Given the description of an element on the screen output the (x, y) to click on. 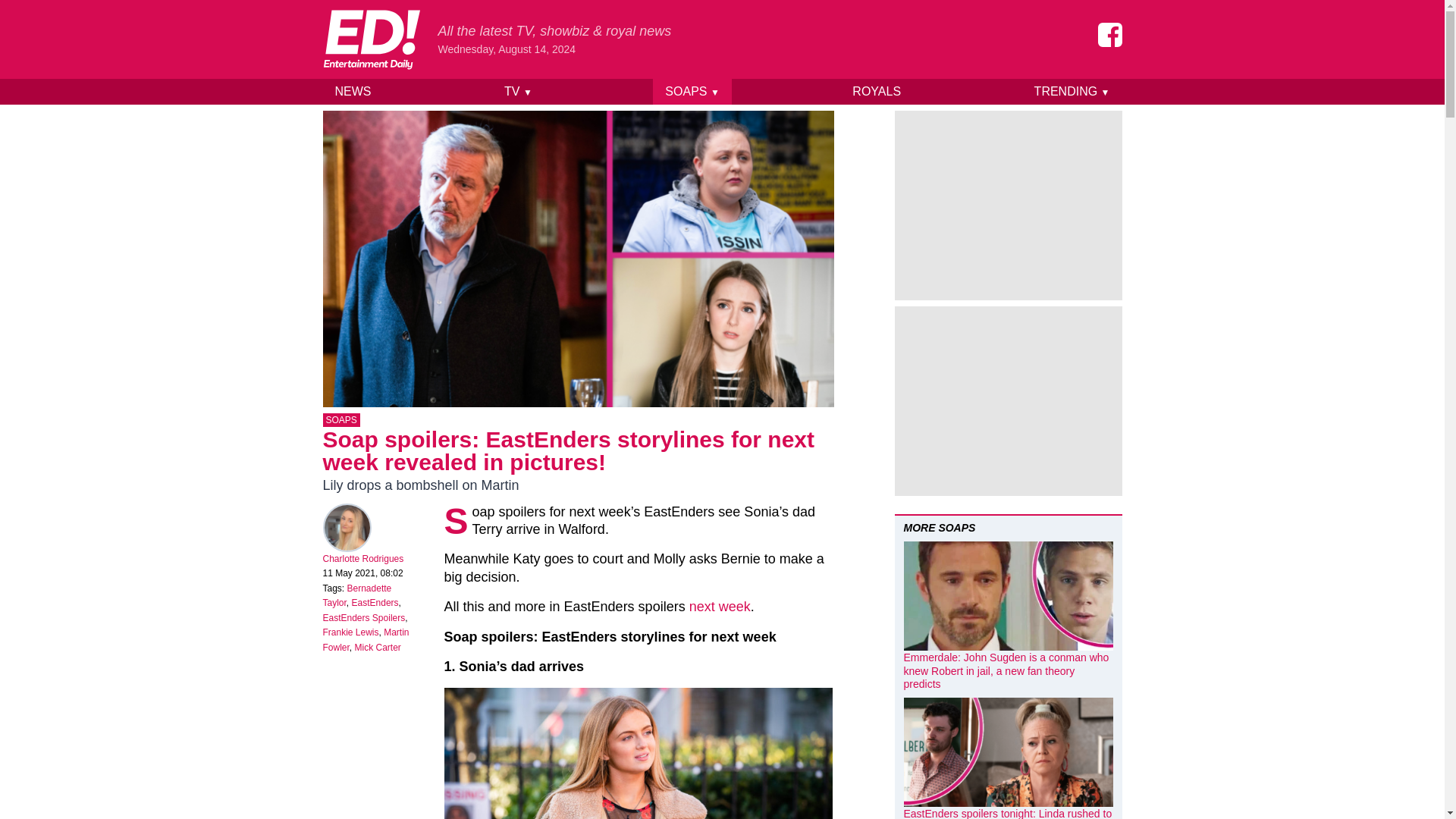
Frankie Lewis (350, 632)
EastEnders Spoilers (364, 617)
Bernadette Taylor (357, 596)
Charlotte Rodrigues (363, 558)
Martin Fowler (366, 639)
EastEnders (375, 602)
next (701, 606)
SOAPS (341, 419)
Mick Carter (378, 647)
